Given the description of an element on the screen output the (x, y) to click on. 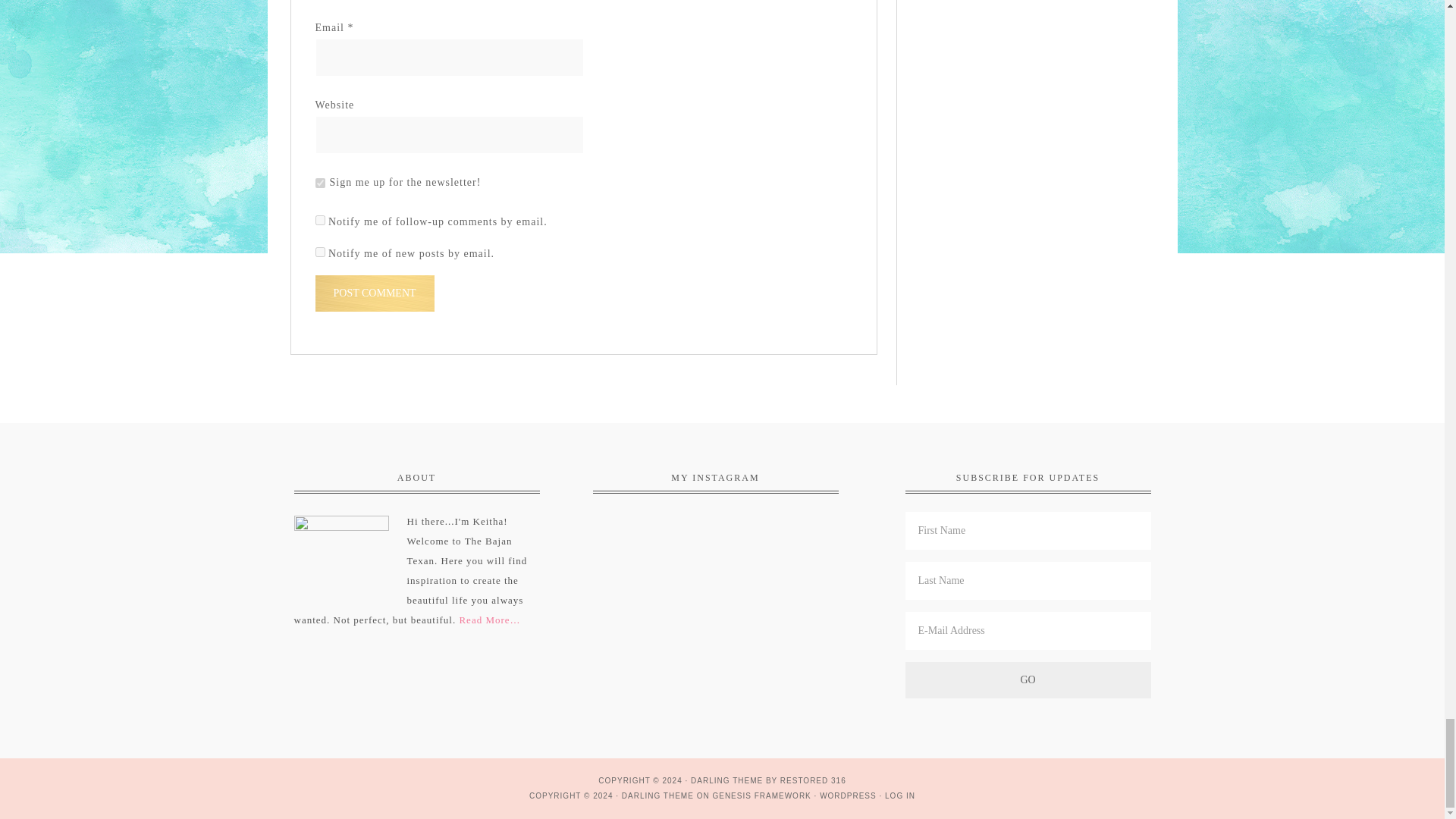
Post Comment (374, 293)
subscribe (319, 252)
subscribe (319, 220)
1 (319, 183)
